Given the description of an element on the screen output the (x, y) to click on. 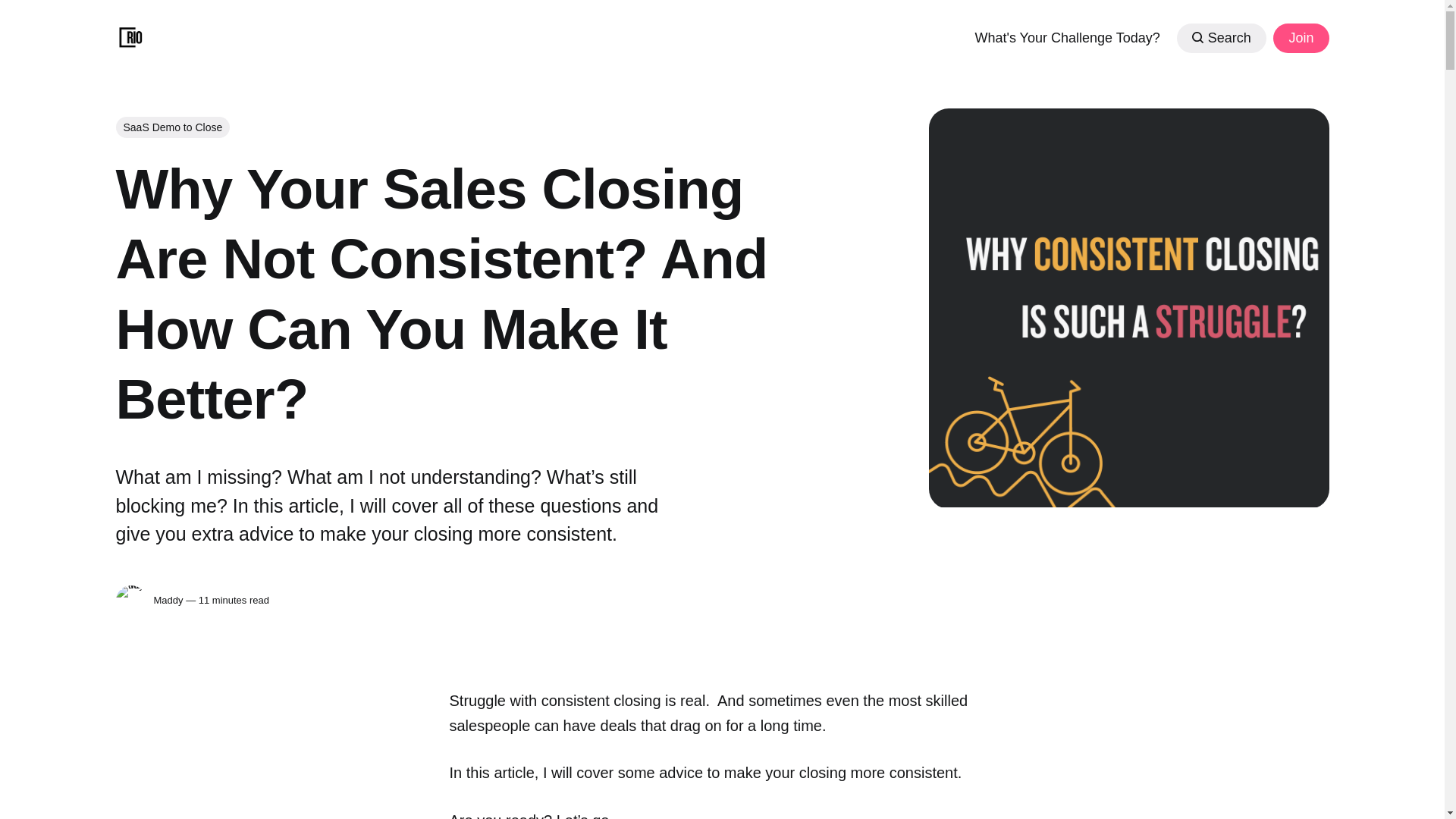
Maddy (130, 600)
SaaS Demo to Close (172, 127)
Join (1299, 37)
Maddy (167, 600)
What's Your Challenge Today? (1066, 37)
